Given the description of an element on the screen output the (x, y) to click on. 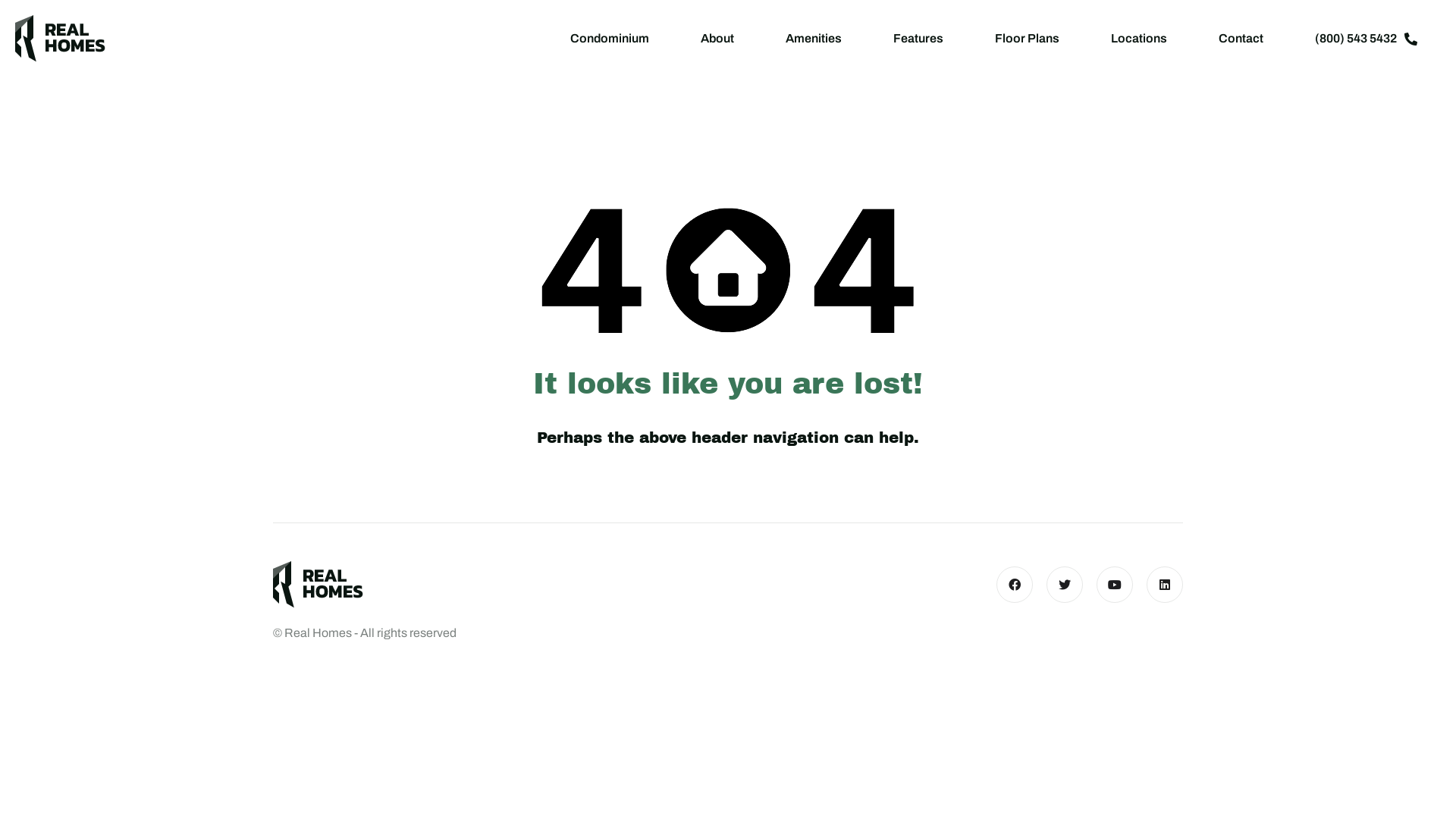
(800) 543 5432 Element type: text (1365, 38)
Floor Plans Element type: text (1026, 38)
21DXB Element type: hover (318, 584)
Condominium Element type: text (609, 38)
21DXB Element type: hover (60, 38)
About Element type: text (717, 38)
Locations Element type: text (1138, 38)
Features Element type: text (918, 38)
Amenities Element type: text (813, 38)
Contact Element type: text (1240, 38)
